Given the description of an element on the screen output the (x, y) to click on. 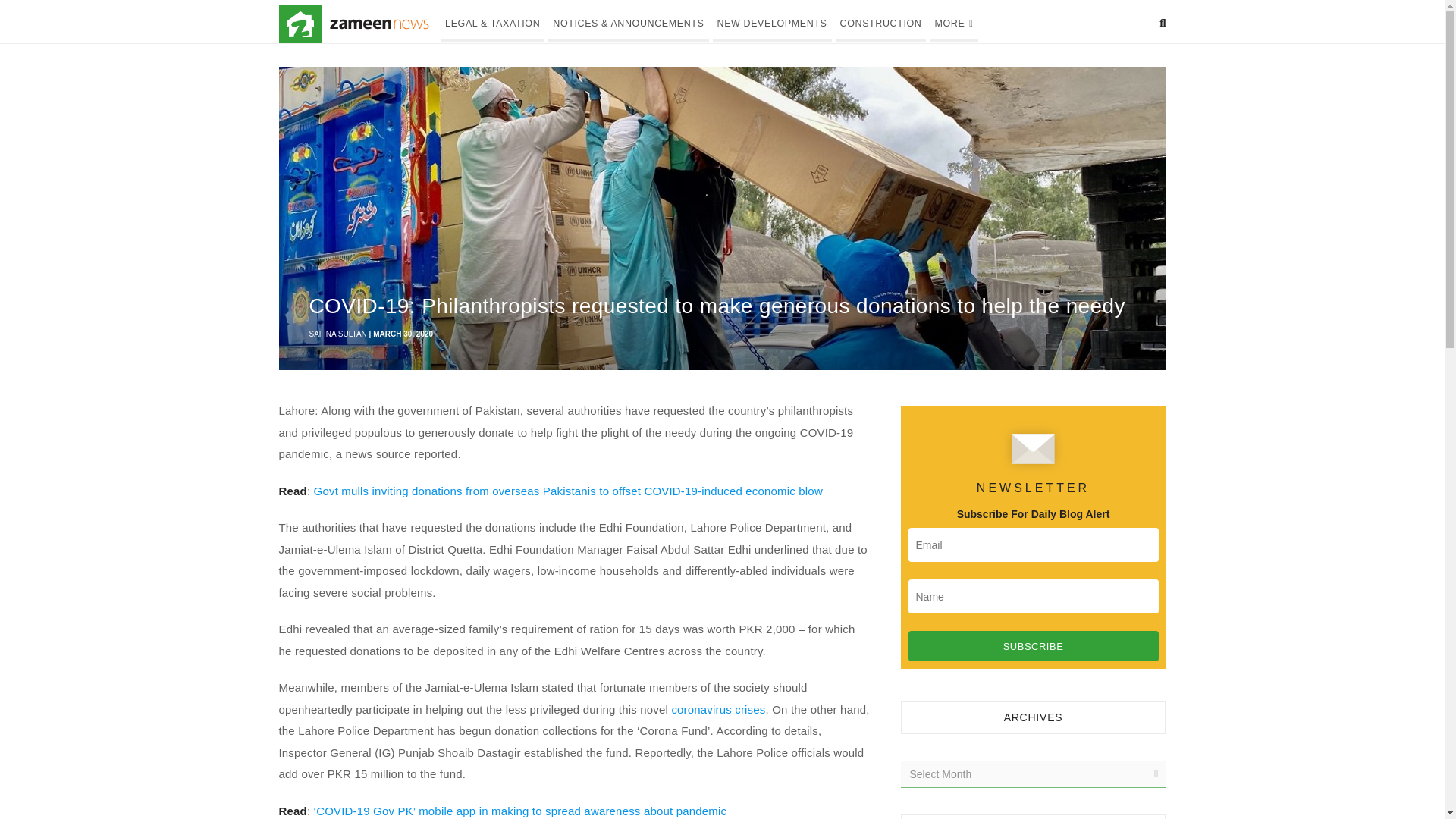
NEW DEVELOPMENTS (772, 21)
coronavirus crises (718, 707)
NEWS (378, 24)
CONSTRUCTION (880, 21)
Subscribe (1033, 645)
SAFINA SULTAN (337, 334)
ZAMEEN (300, 24)
Subscribe (1033, 645)
MORE (953, 21)
